Given the description of an element on the screen output the (x, y) to click on. 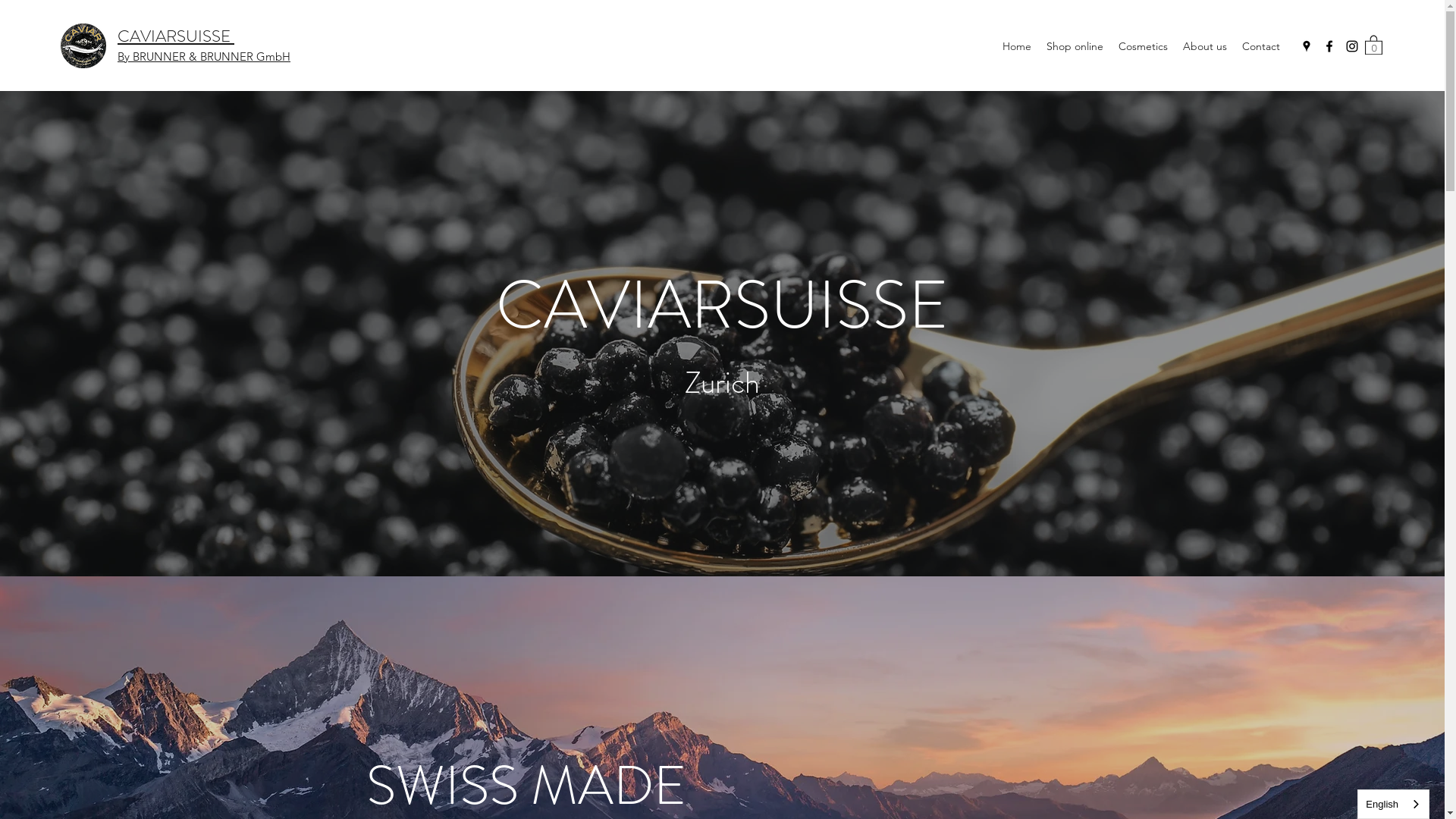
By BRUNNER & BRUNNER GmbH Element type: text (203, 56)
About us Element type: text (1204, 45)
English Element type: text (1393, 804)
Contact Element type: text (1260, 45)
0 Element type: text (1373, 44)
Cosmetics Element type: text (1142, 45)
Home Element type: text (1016, 45)
CAVIARSUISSE  Element type: text (175, 35)
Shop online Element type: text (1074, 45)
